Given the description of an element on the screen output the (x, y) to click on. 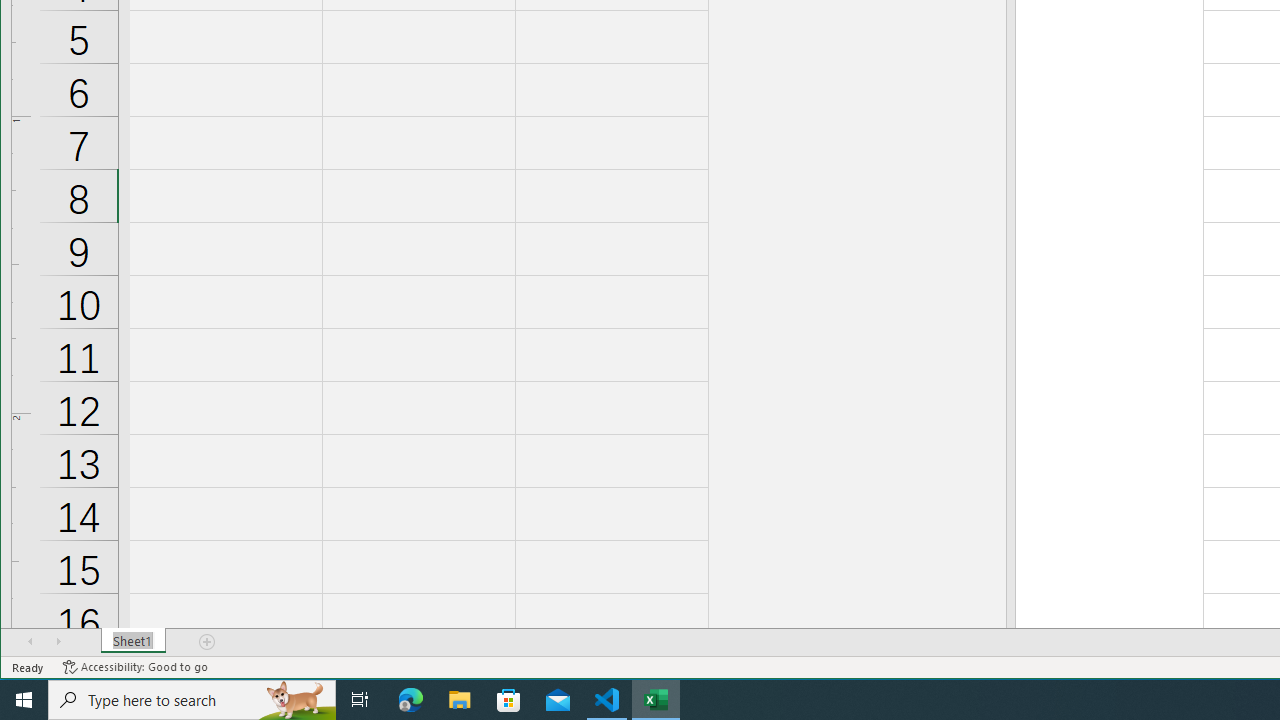
Type here to search (191, 699)
Excel - 1 running window (656, 699)
Microsoft Store (509, 699)
Sheet Tab (133, 641)
Search highlights icon opens search home window (295, 699)
Visual Studio Code - 1 running window (607, 699)
Microsoft Edge (411, 699)
File Explorer (460, 699)
Start (24, 699)
Task View (359, 699)
